Given the description of an element on the screen output the (x, y) to click on. 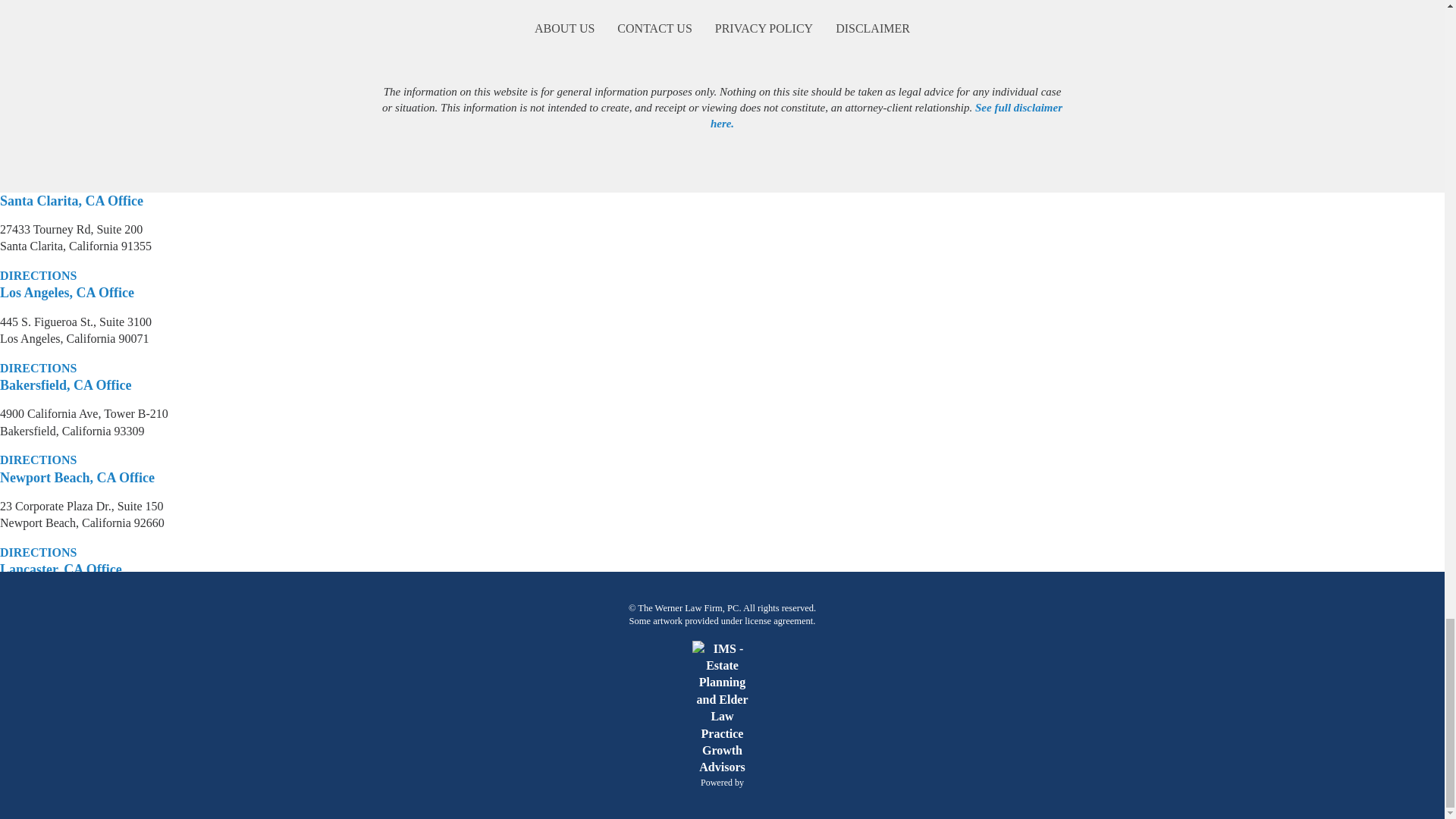
Get Directions to Our Bakersfield, CA Office (38, 460)
Get Directions to Our Newport Beach, CA Office (38, 552)
Get Directions to Our Santa Clarita, CA Office (38, 275)
Get Directions to Our Los Angeles, CA Office (38, 368)
